Given the description of an element on the screen output the (x, y) to click on. 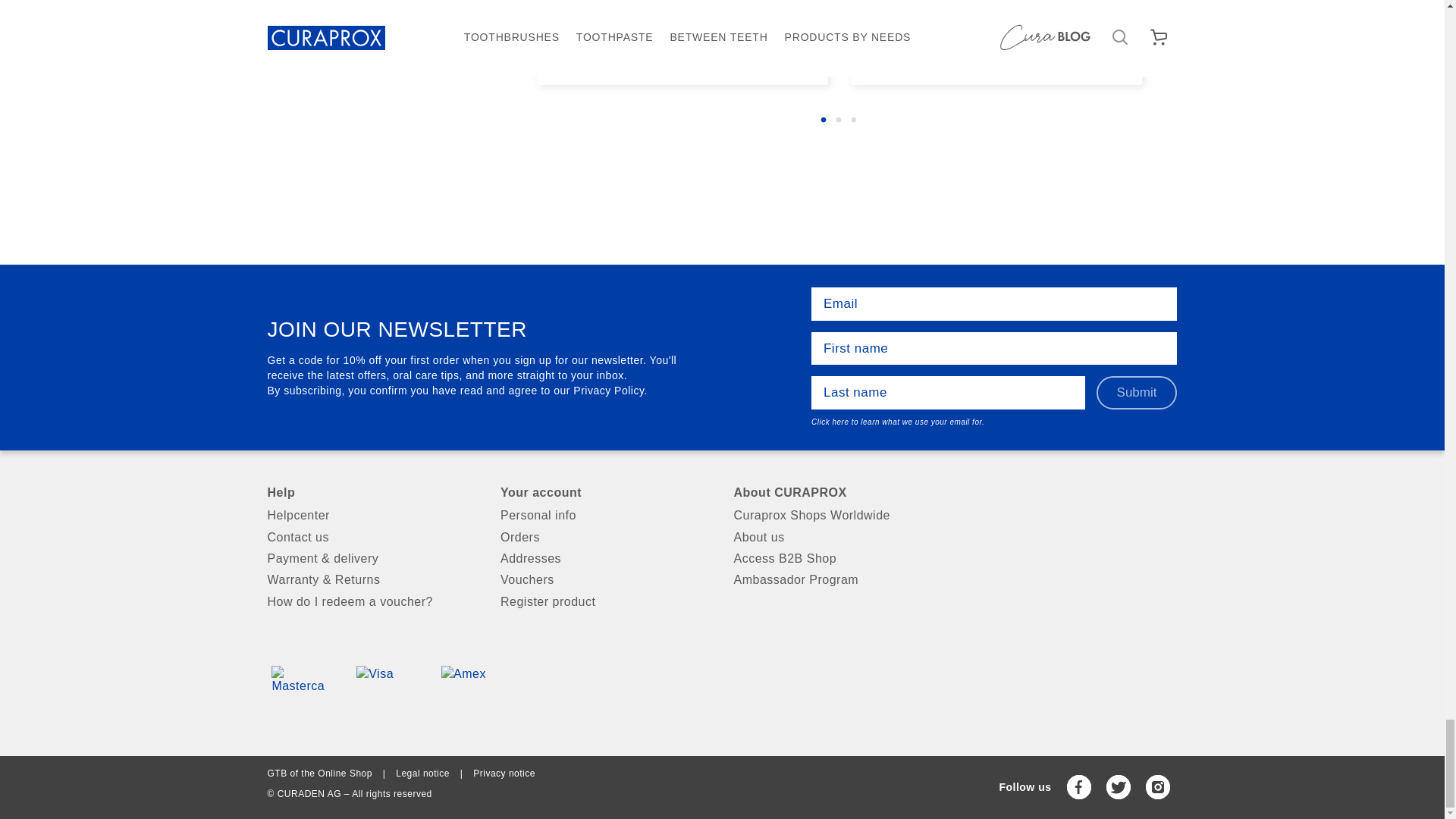
Addresses (605, 558)
About us (838, 537)
CURAPROX Shops (838, 515)
Contact us (371, 537)
 How do I redeem a voucher?  (371, 601)
Register product (605, 601)
Vouchers (605, 579)
Helpcenter (371, 515)
Submit (1136, 392)
Personal info (605, 515)
